Given the description of an element on the screen output the (x, y) to click on. 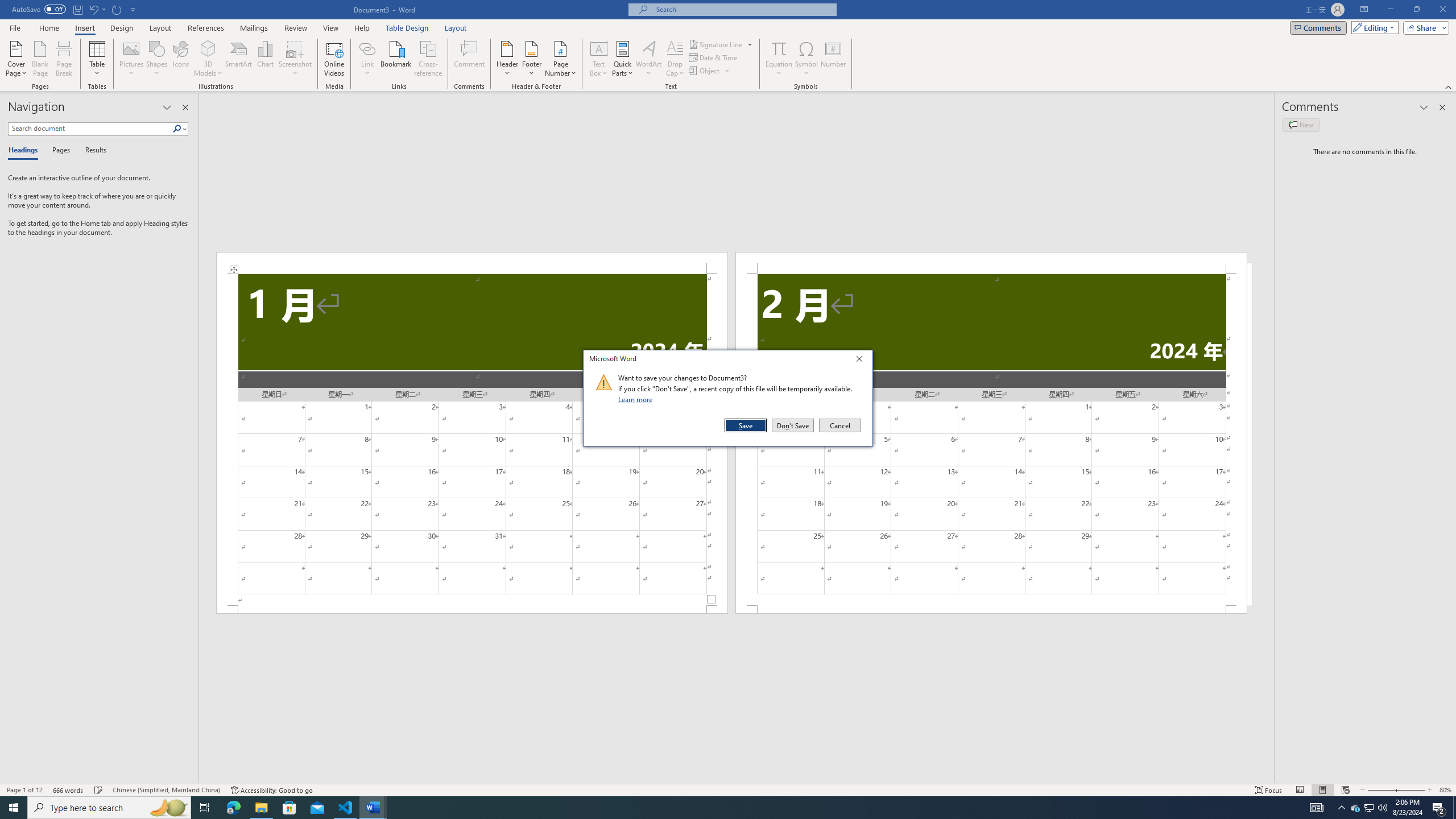
3D Models (208, 48)
Online Videos... (333, 58)
Equation (778, 48)
Word - 2 running windows (373, 807)
Running applications (717, 807)
Chart... (265, 58)
Drop Cap (674, 58)
Icons (180, 58)
Microsoft Edge (233, 807)
